Given the description of an element on the screen output the (x, y) to click on. 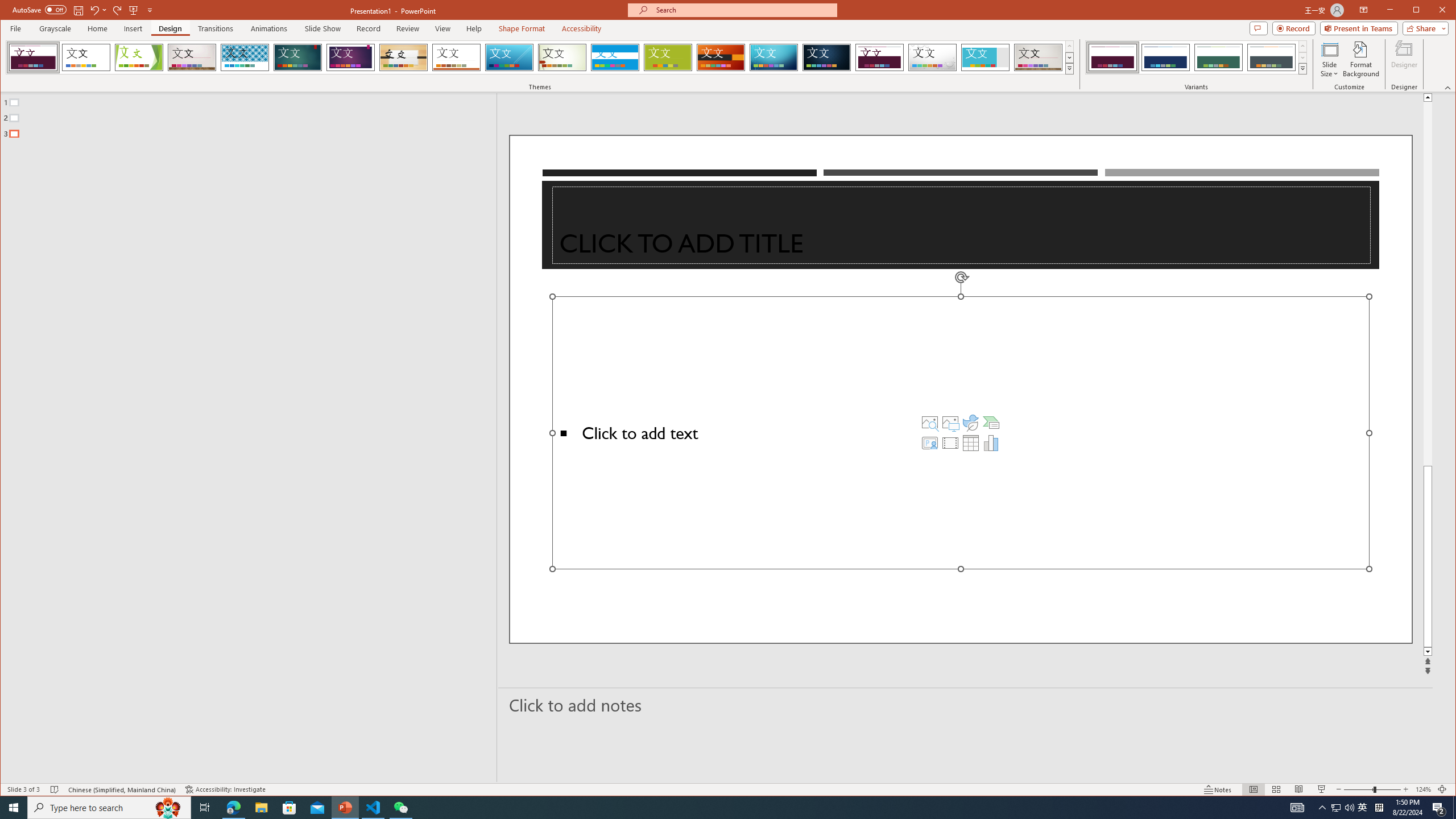
Wisp (561, 57)
Content Placeholder (960, 432)
